Given the description of an element on the screen output the (x, y) to click on. 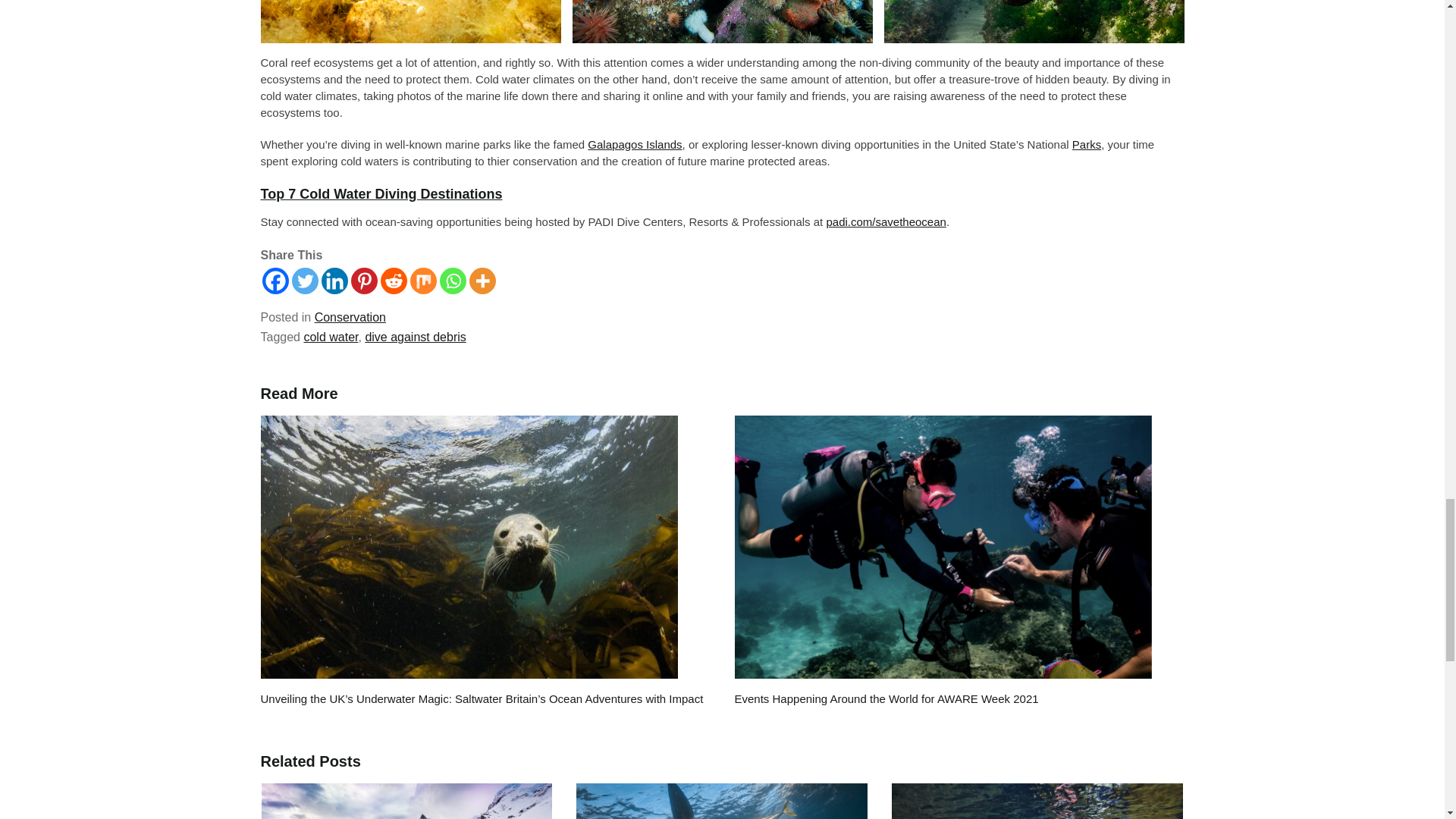
Pinterest (363, 280)
Reddit (393, 280)
Whatsapp (452, 280)
Mix (422, 280)
Linkedin (334, 280)
Facebook (275, 280)
Twitter (304, 280)
